Given the description of an element on the screen output the (x, y) to click on. 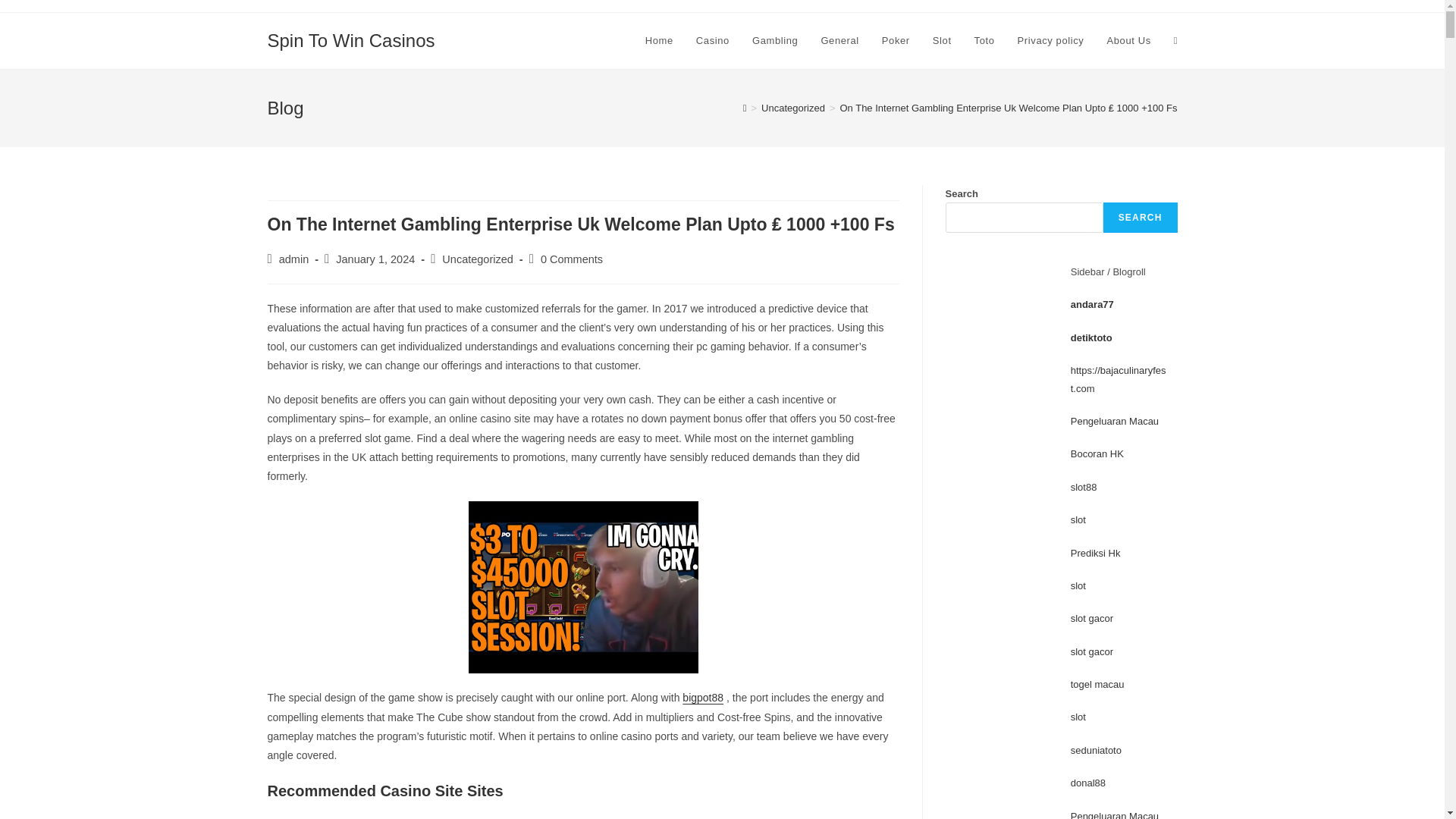
Home (658, 40)
Uncategorized (477, 259)
Poker (895, 40)
admin (293, 259)
About Us (1127, 40)
Privacy policy (1051, 40)
Casino (712, 40)
Toto (984, 40)
bigpot88 (702, 697)
Gambling (775, 40)
Spin To Win Casinos (349, 40)
General (839, 40)
SEARCH (1140, 217)
andara77 (1091, 304)
Uncategorized (793, 107)
